Given the description of an element on the screen output the (x, y) to click on. 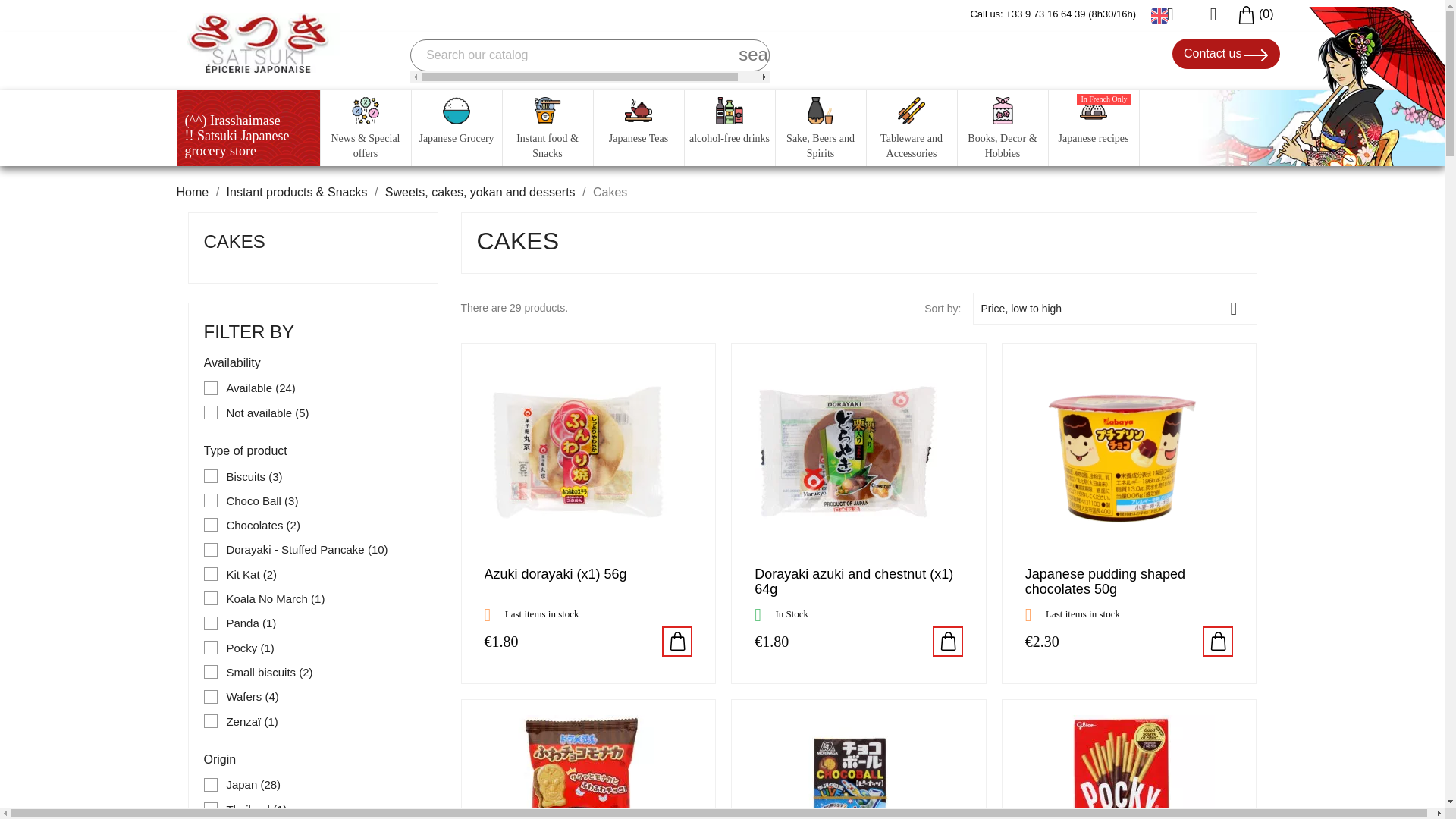
Contact us (1225, 53)
Ajouter au panier (1217, 641)
Log in to your customer account (1206, 14)
Ajouter au panier (947, 641)
Ajouter au panier (677, 641)
Japanese Grocery (455, 128)
